Given the description of an element on the screen output the (x, y) to click on. 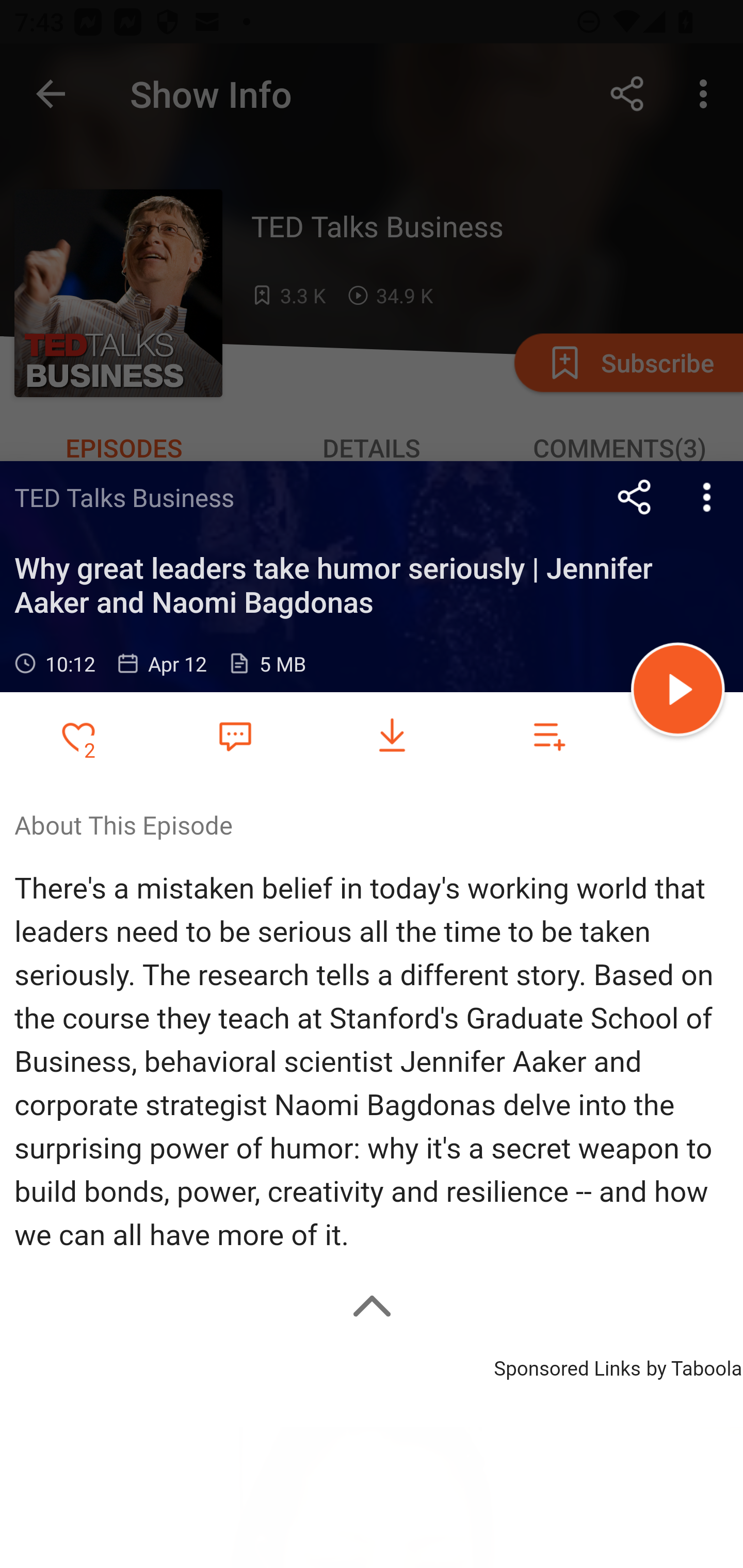
Share (634, 496)
more options (706, 496)
Play (677, 692)
Favorite (234, 735)
Add to Favorites (78, 735)
Download (391, 735)
Add to playlist (548, 735)
Sponsored Links (566, 1364)
by Taboola (693, 1364)
